Given the description of an element on the screen output the (x, y) to click on. 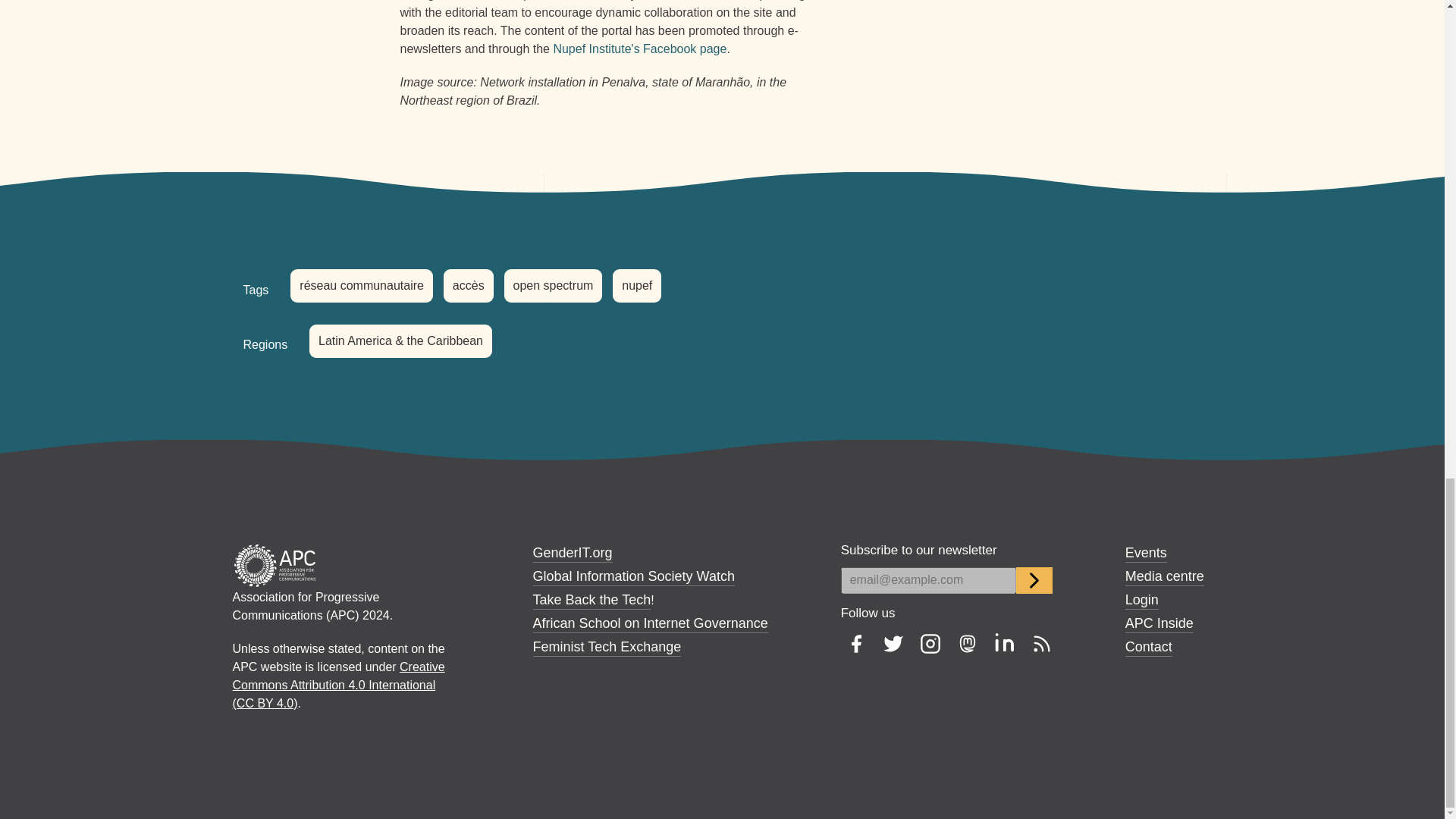
open spectrum (552, 285)
Nupef Institute's Facebook page (639, 48)
For site managers (1141, 599)
Intranet for APC members associates and staff (1159, 623)
Mastodon (967, 643)
Facebook (855, 643)
Twitter (893, 643)
RSS (1041, 643)
Homepage (274, 563)
Instagram (930, 643)
